Given the description of an element on the screen output the (x, y) to click on. 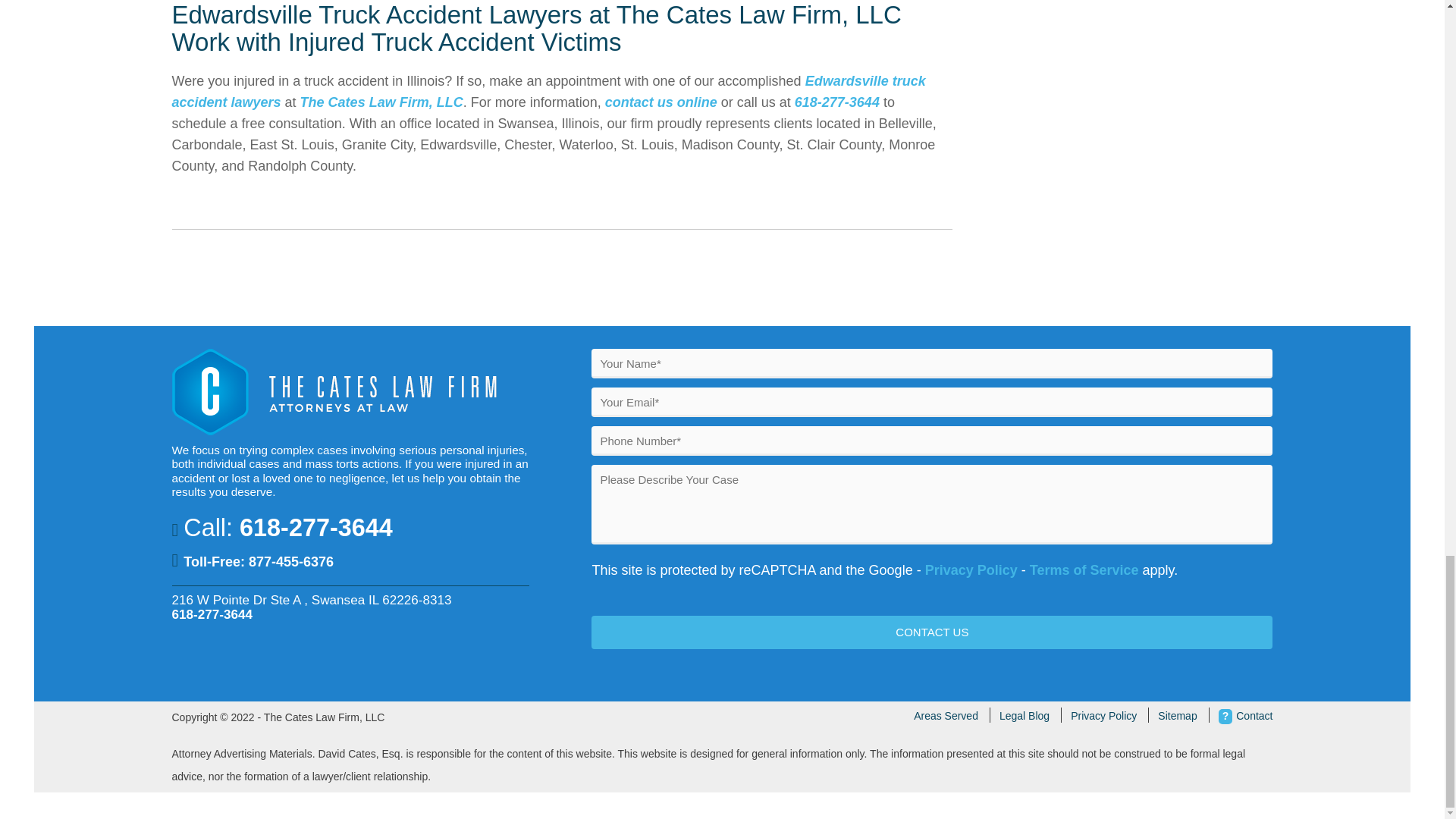
Contact Us (931, 632)
The Cates Law Firm Homepage (337, 430)
